Given the description of an element on the screen output the (x, y) to click on. 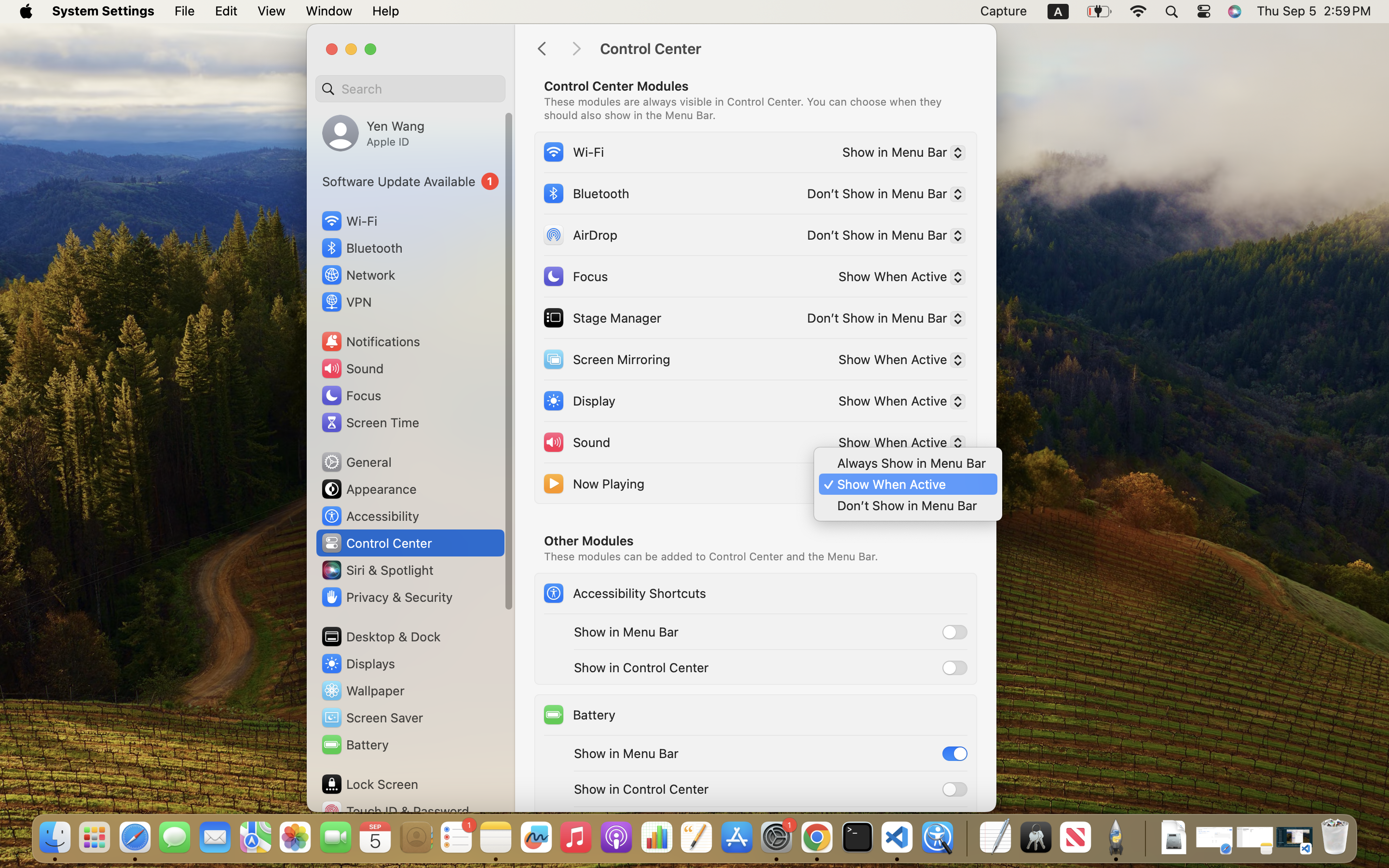
Bluetooth Element type: AXStaticText (585, 192)
Displays Element type: AXStaticText (357, 663)
Yen Wang, Apple ID Element type: AXStaticText (373, 132)
Wi‑Fi Element type: AXStaticText (572, 150)
Show in Menu Bar Element type: AXStaticText (626, 631)
